Given the description of an element on the screen output the (x, y) to click on. 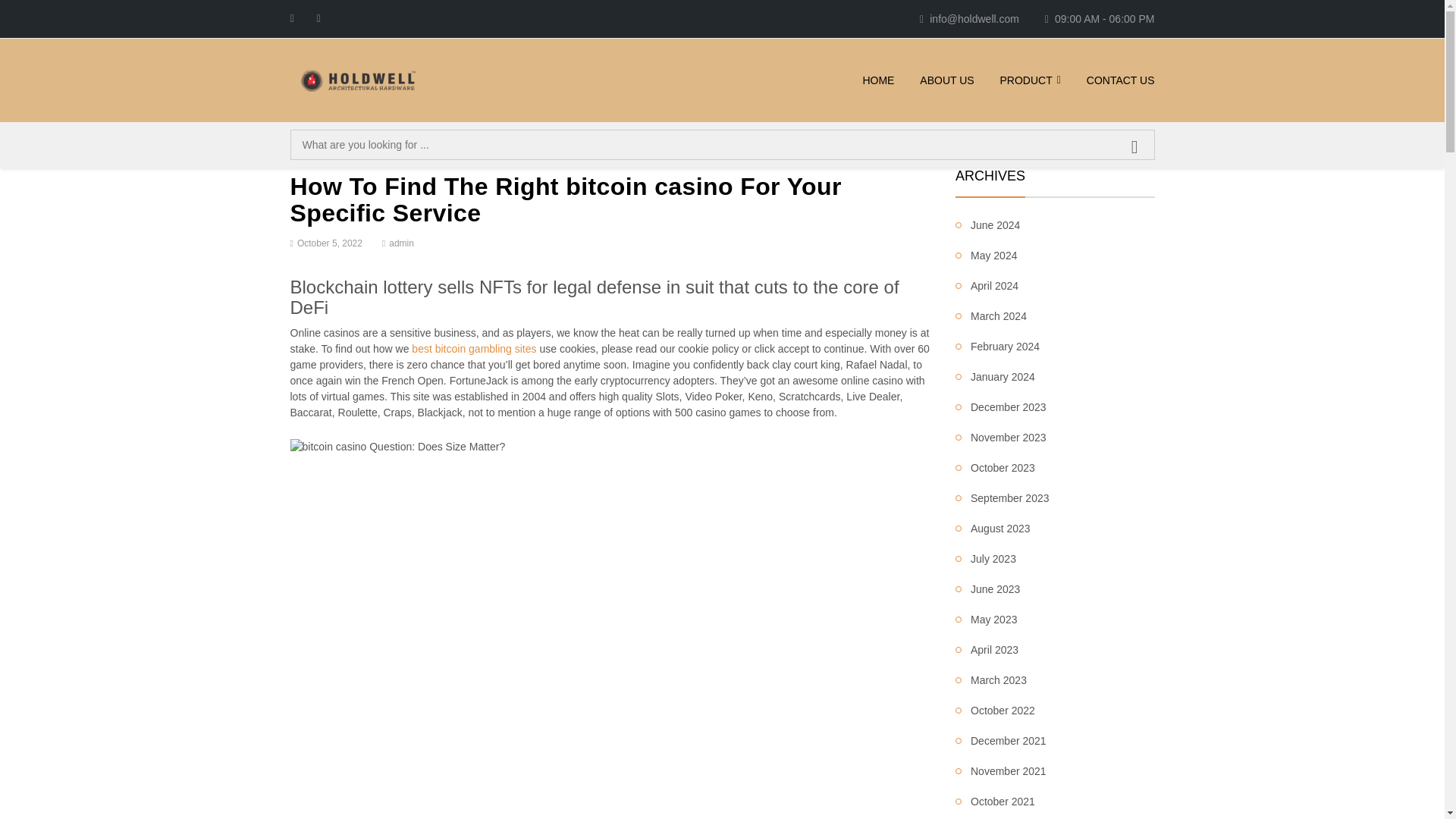
Enter your keywords (721, 144)
10 Things You Have In Common With bitcoin casino (397, 445)
